Given the description of an element on the screen output the (x, y) to click on. 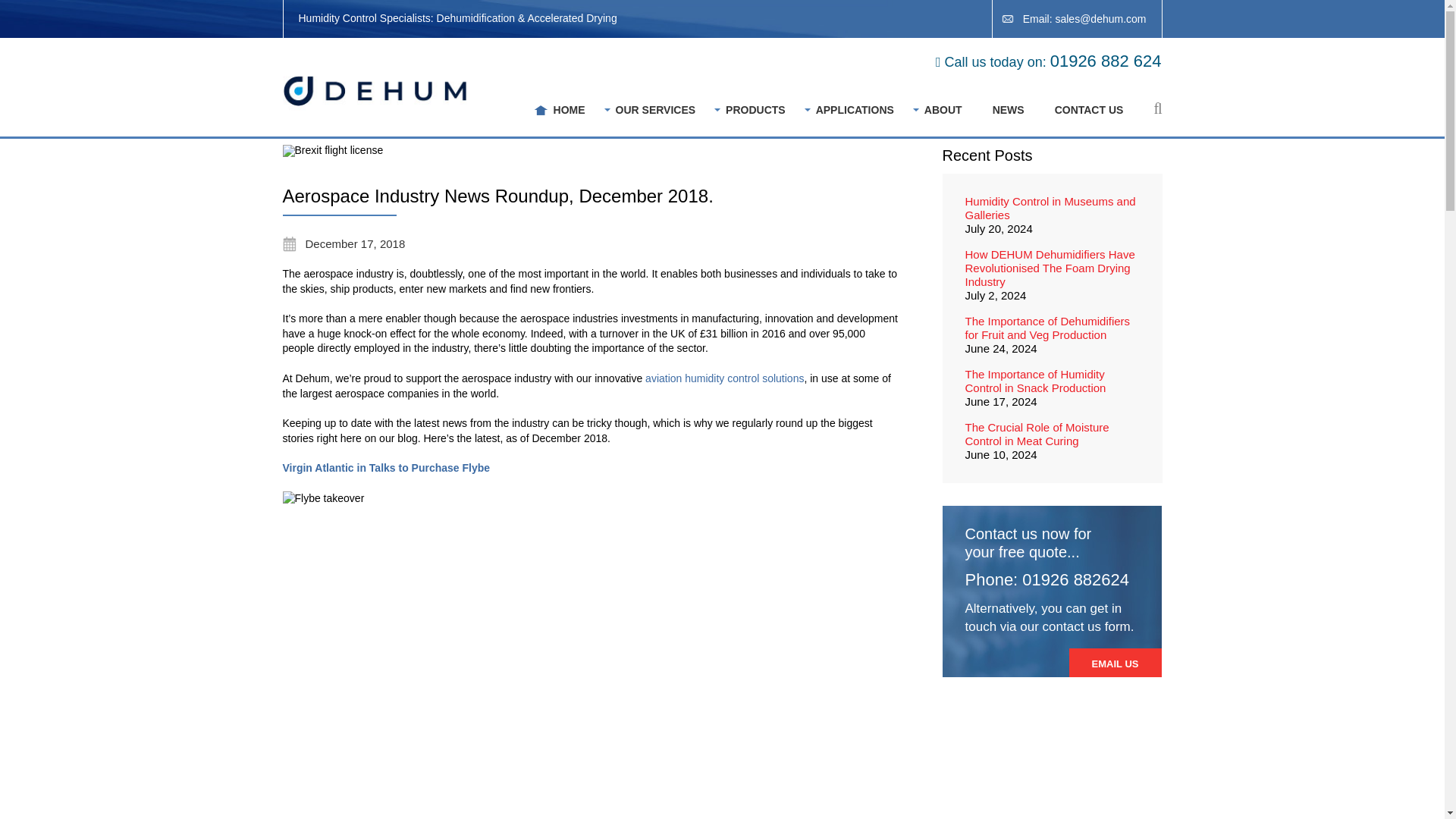
APPLICATIONS (854, 109)
01926 882 624 (1105, 60)
Dehum (376, 90)
PRODUCTS (755, 109)
OUR SERVICES (655, 109)
